Given the description of an element on the screen output the (x, y) to click on. 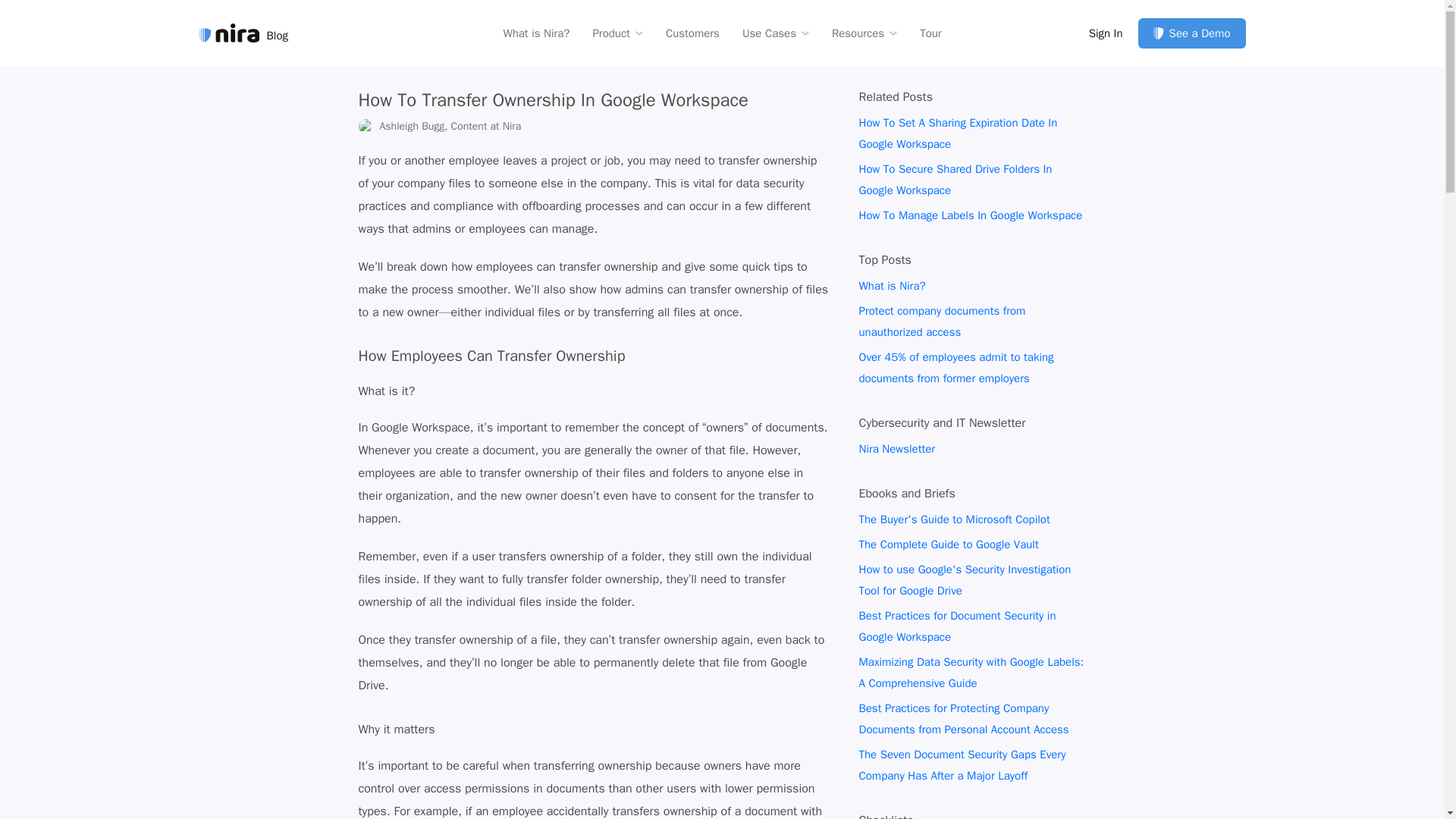
Customers (692, 32)
Resources (864, 32)
Ashleigh Bugg (365, 126)
Use Cases (775, 32)
What is Nira? (535, 32)
Blog (242, 33)
Product (617, 32)
